Given the description of an element on the screen output the (x, y) to click on. 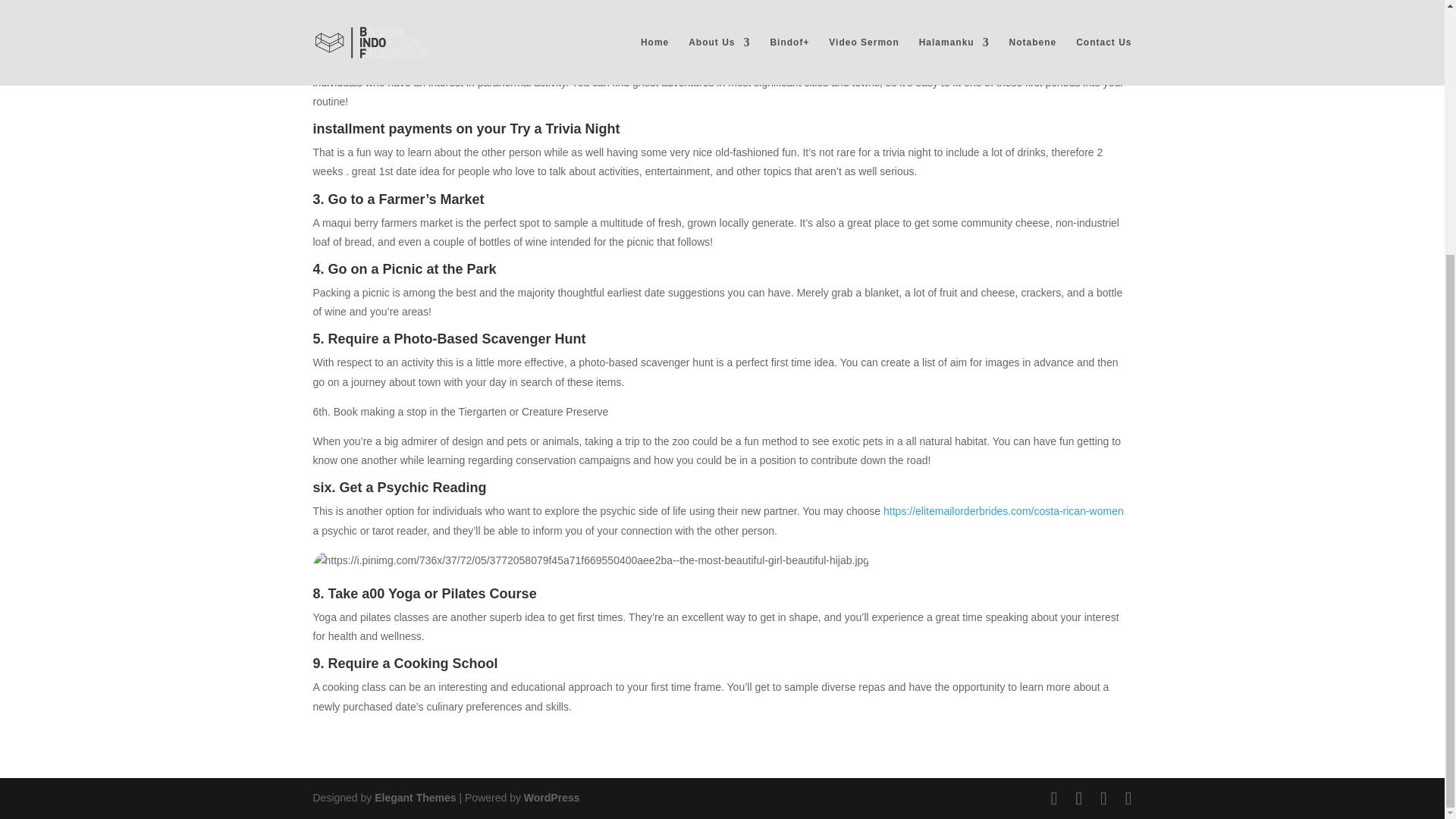
WordPress (551, 797)
Elegant Themes (414, 797)
Premium WordPress Themes (414, 797)
